Given the description of an element on the screen output the (x, y) to click on. 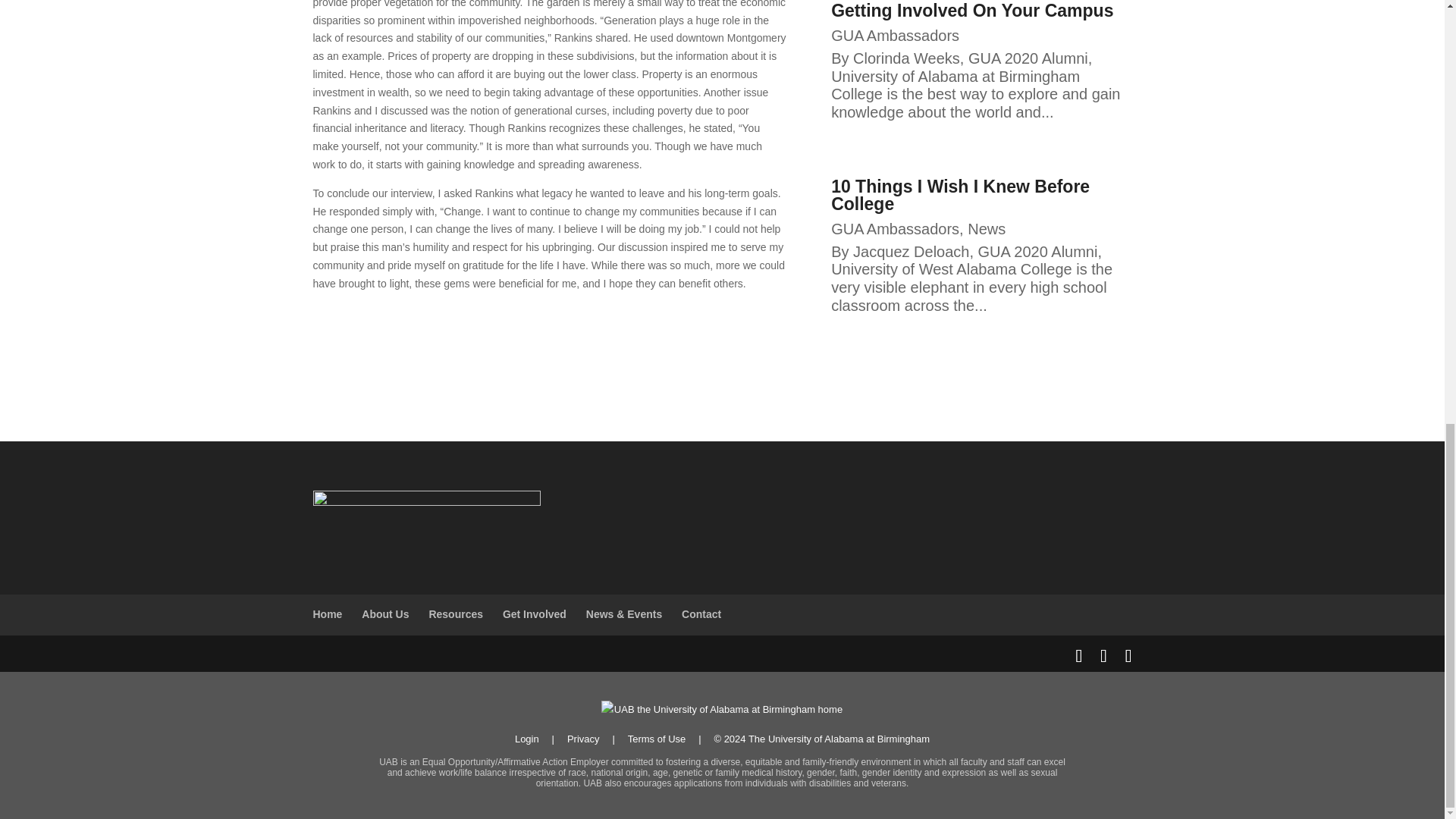
Getting Involved On Your Campus (972, 10)
GUA Ambassadors (895, 35)
About Us (385, 613)
Get Involved (534, 613)
Follow on Instagram (549, 327)
Contact (700, 613)
10 Things I Wish I Knew Before College (960, 194)
News (987, 228)
Resources (455, 613)
Home (327, 613)
Login (526, 738)
Follow on X (579, 327)
GUA Ambassadors (895, 228)
Follow on Facebook (518, 327)
